Given the description of an element on the screen output the (x, y) to click on. 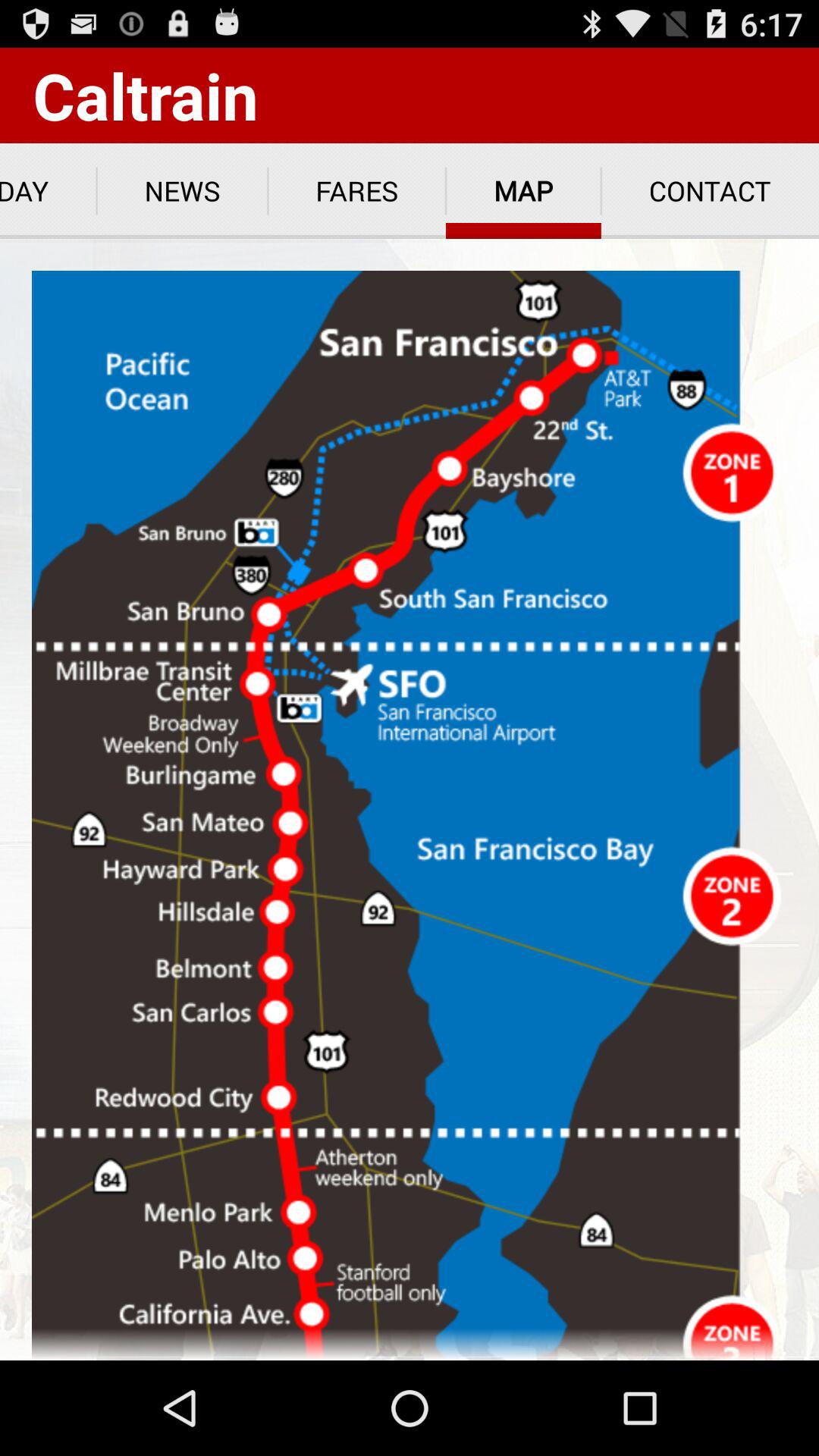
turn off app below caltrain (48, 190)
